Given the description of an element on the screen output the (x, y) to click on. 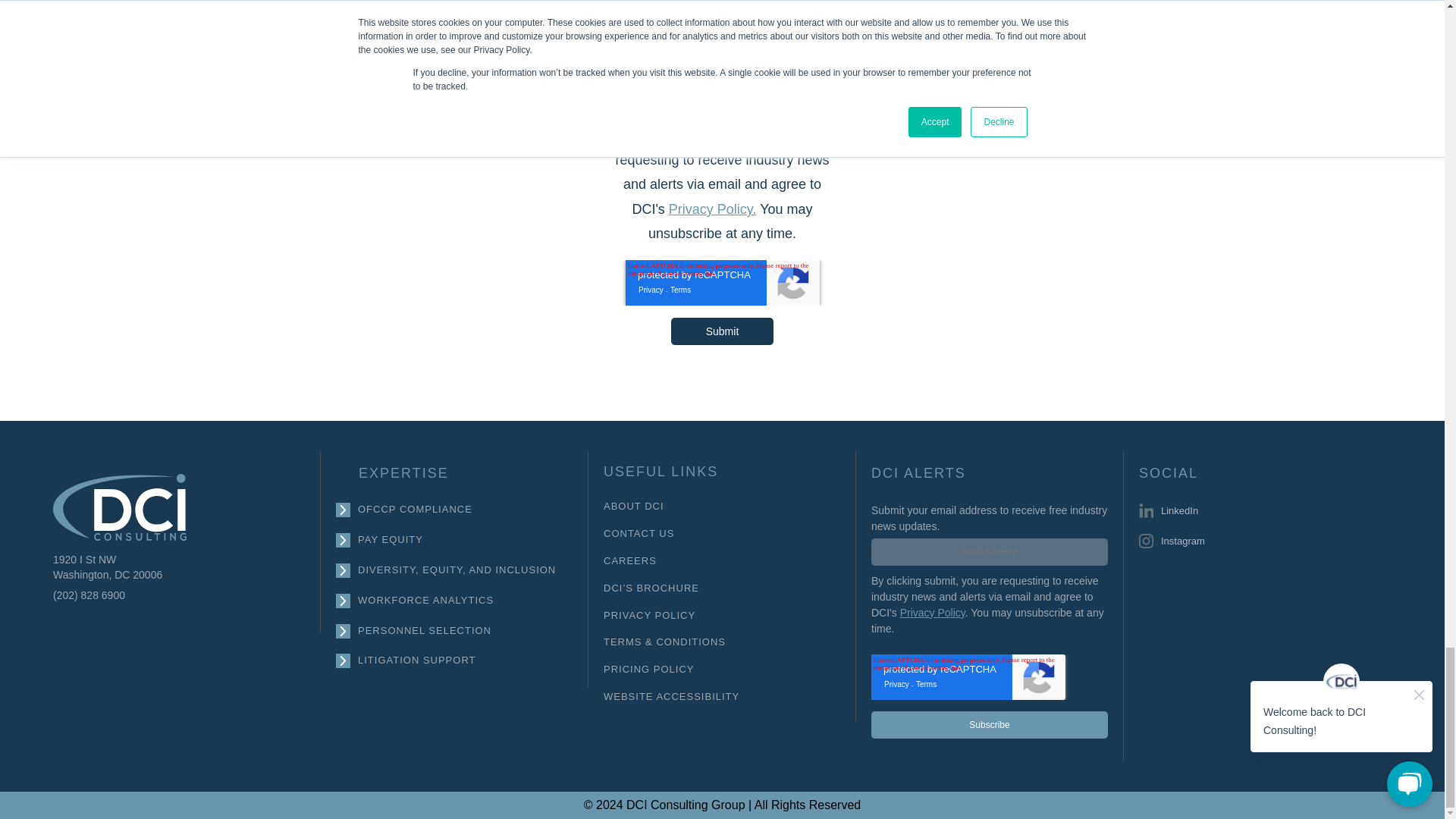
Submit (722, 330)
reCAPTCHA (721, 282)
Subscribe (989, 724)
reCAPTCHA (967, 677)
